Given the description of an element on the screen output the (x, y) to click on. 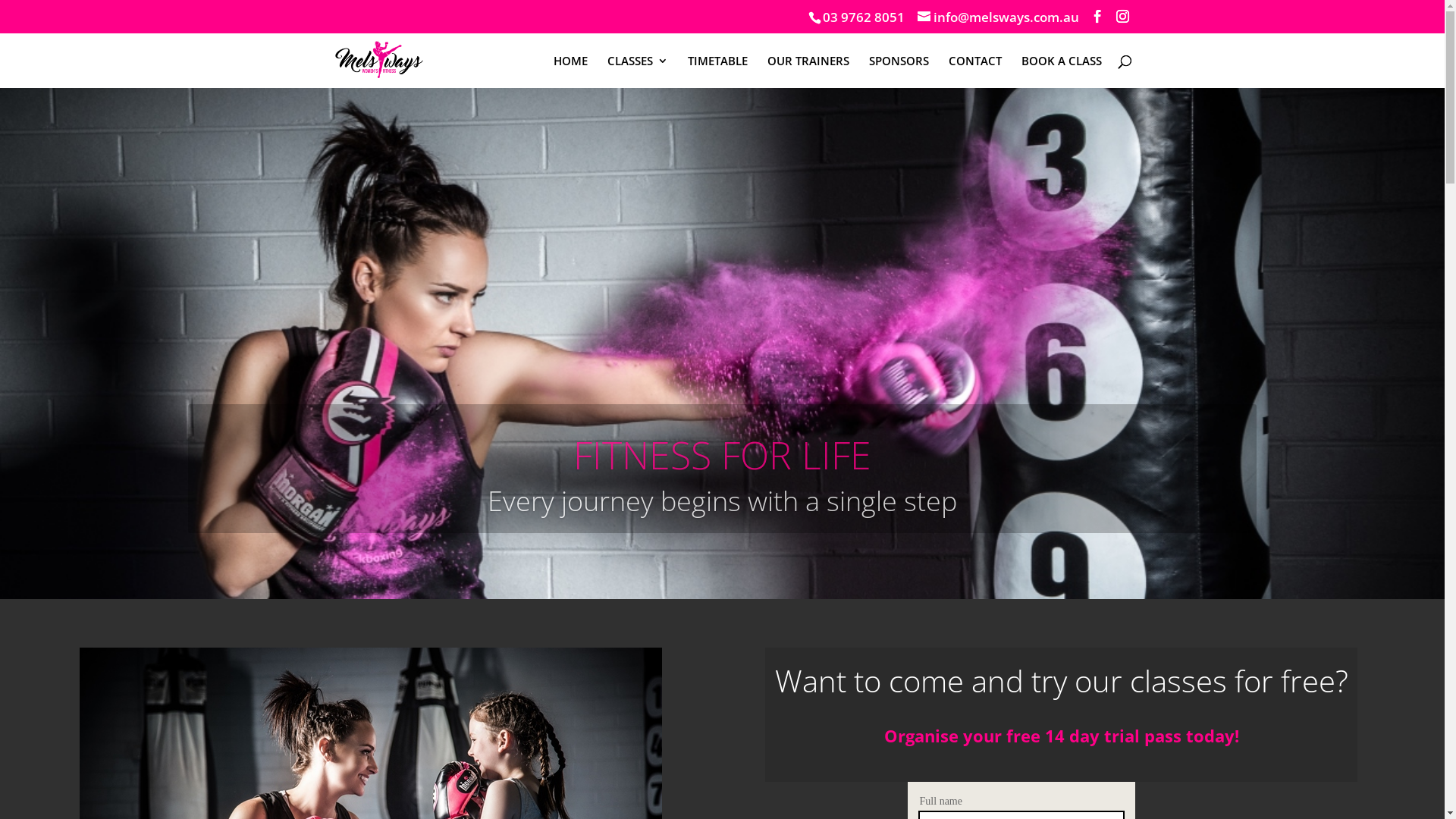
TIMETABLE Element type: text (716, 70)
OUR TRAINERS Element type: text (808, 70)
CONTACT Element type: text (974, 70)
SPONSORS Element type: text (898, 70)
BOOK A CLASS Element type: text (1060, 70)
HOME Element type: text (570, 70)
CLASSES Element type: text (636, 70)
info@melsways.com.au Element type: text (998, 16)
